Given the description of an element on the screen output the (x, y) to click on. 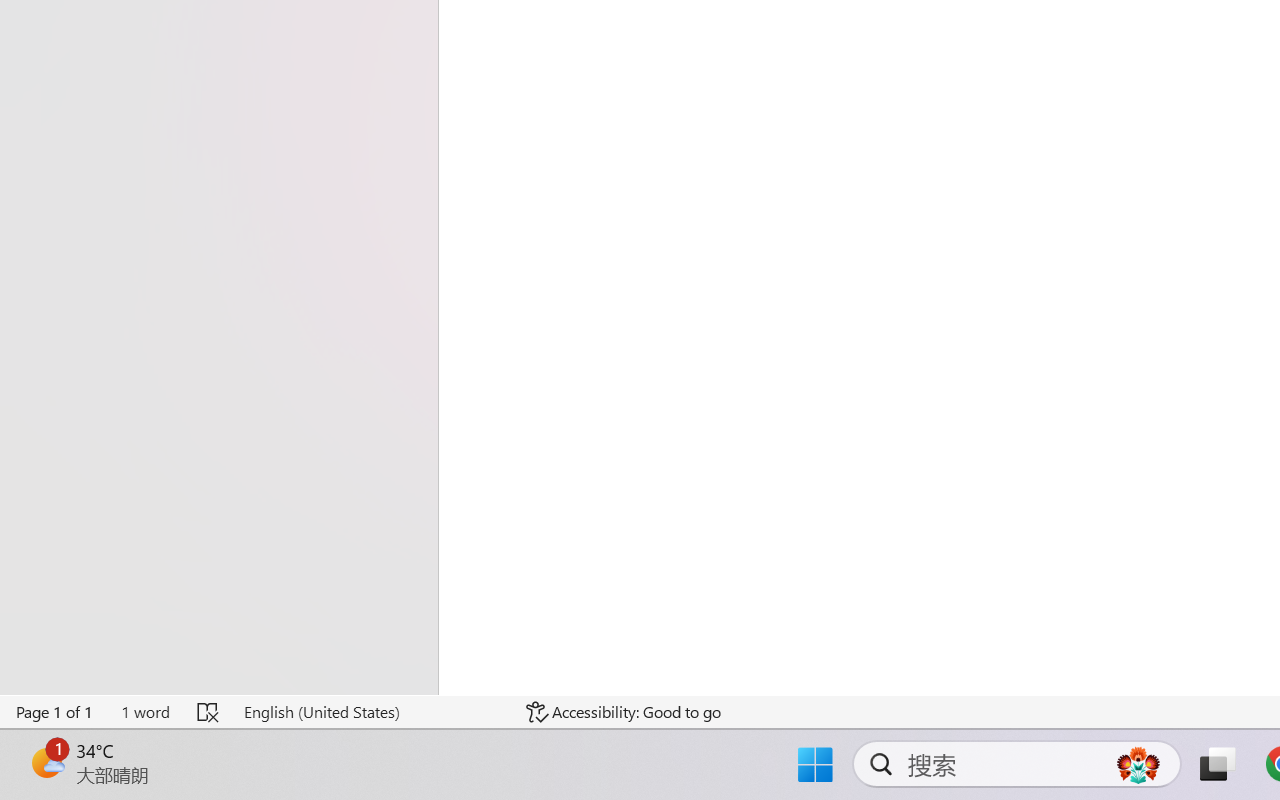
Spelling and Grammar Check Errors (208, 712)
